Given the description of an element on the screen output the (x, y) to click on. 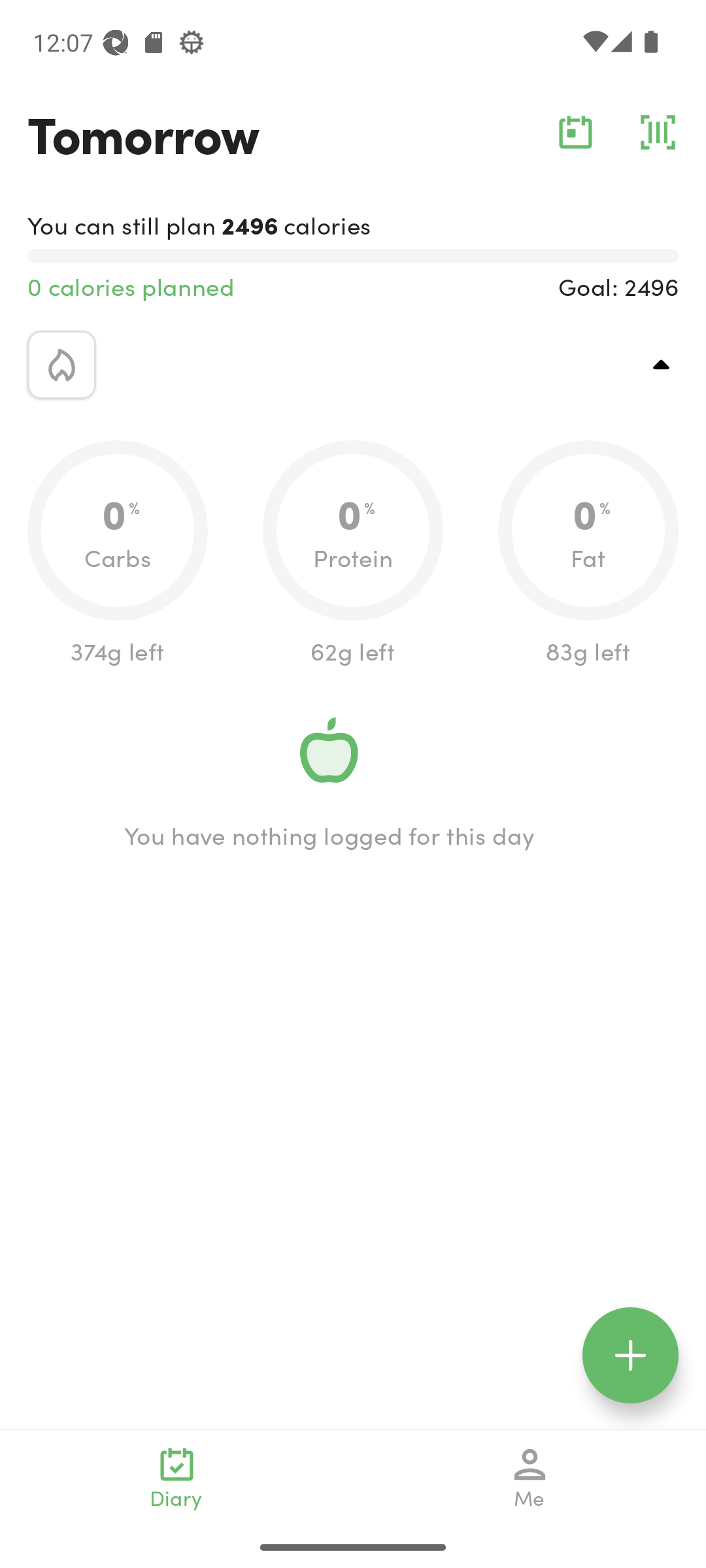
calendar_action (575, 132)
barcode_action (658, 132)
calorie_icon (62, 365)
top_right_action (661, 365)
0.0 0 % Carbs 374g left (117, 553)
0.0 0 % Protein 62g left (352, 553)
0.0 0 % Fat 83g left (588, 553)
floating_action_icon (630, 1355)
Me navigation_icon (529, 1478)
